Given the description of an element on the screen output the (x, y) to click on. 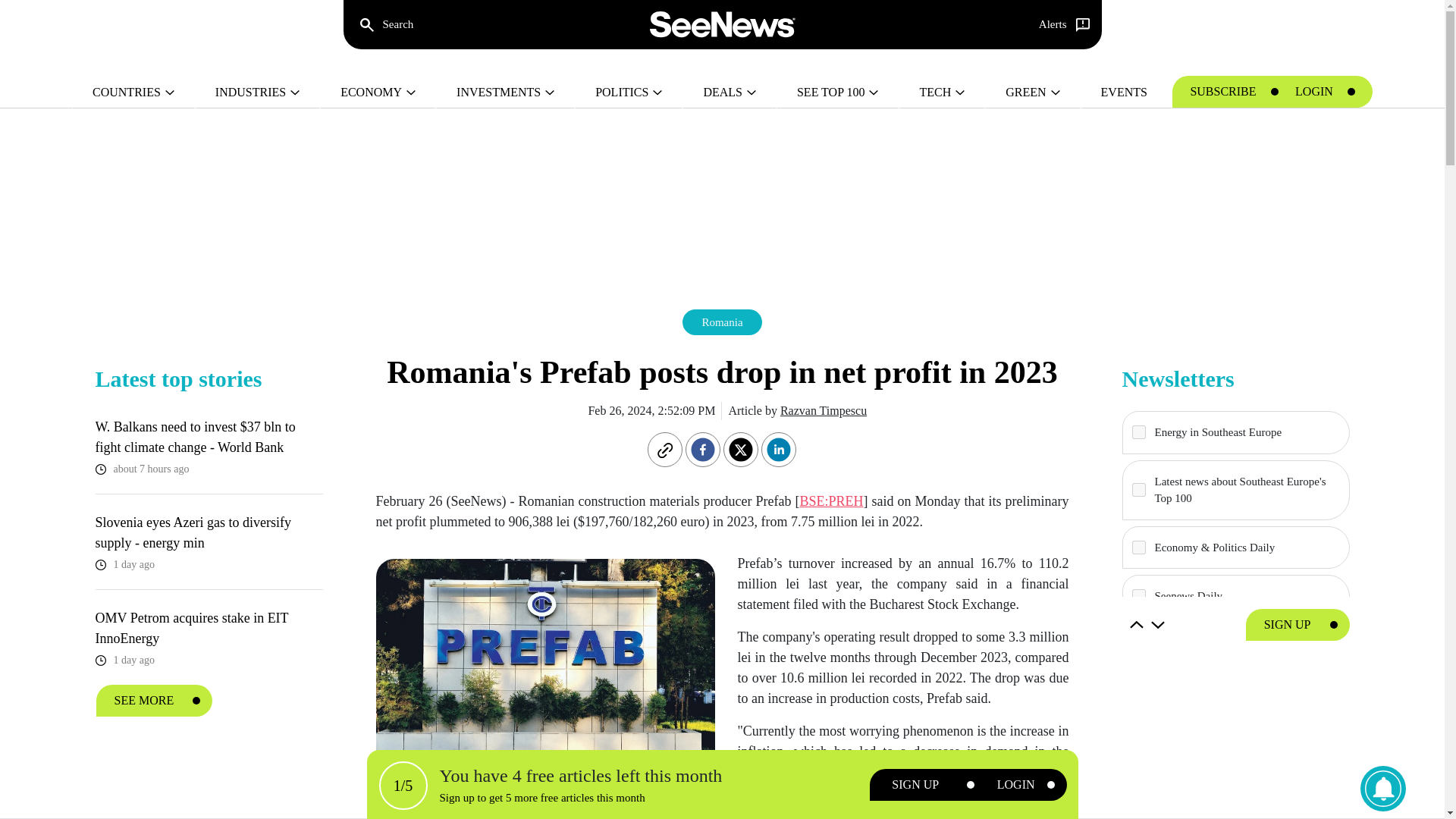
INDUSTRIES (257, 92)
on (1137, 644)
ECONOMY (377, 92)
Romania's Prefab posts drop in net profit in 2023 (544, 665)
on (1137, 595)
on (1137, 694)
on (1137, 489)
on (1137, 547)
COUNTRIES (133, 92)
on (1137, 431)
